Given the description of an element on the screen output the (x, y) to click on. 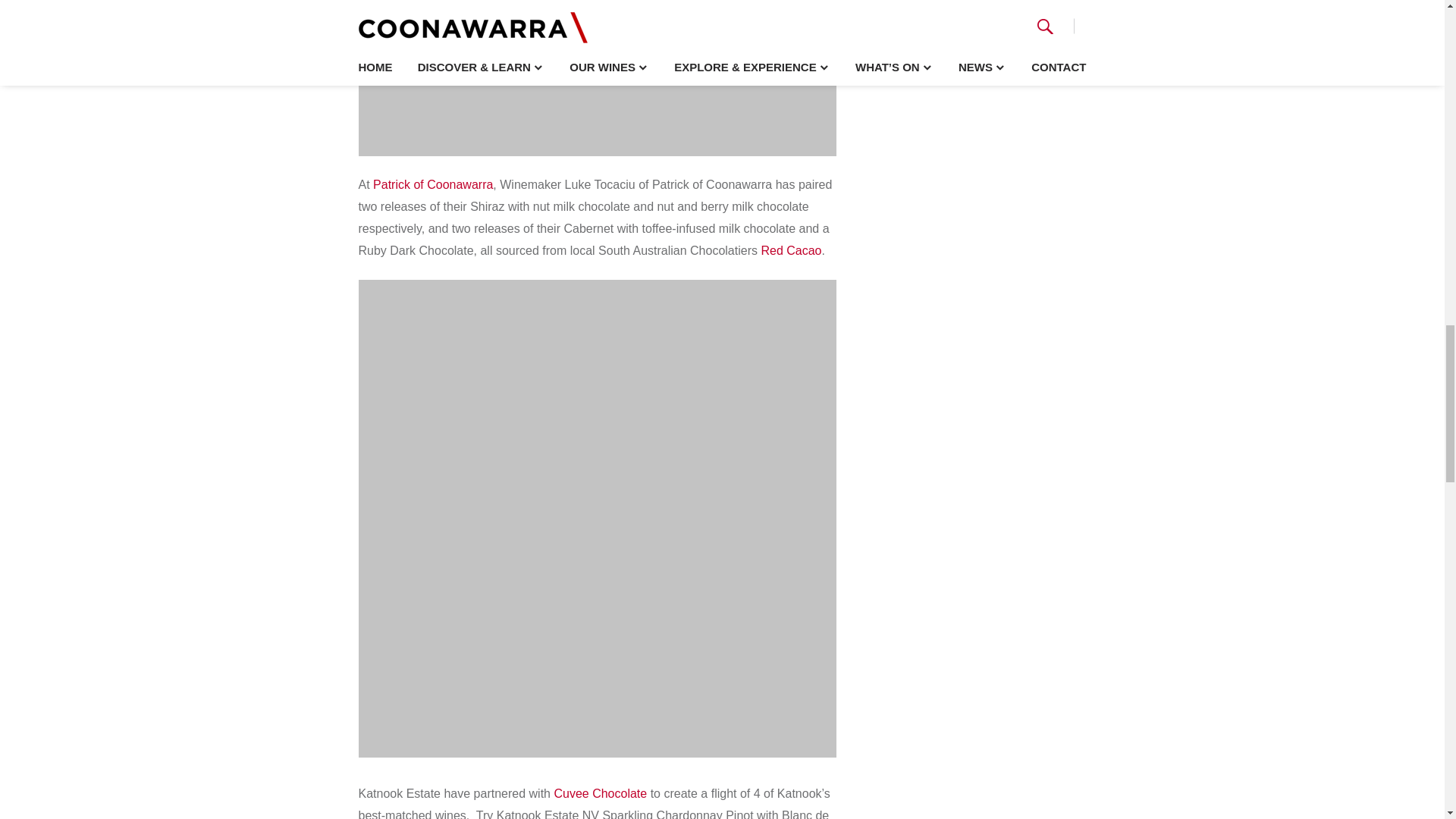
Patrick of Coonawarra (432, 184)
Red Cacao (790, 250)
Cuvee Chocolate (599, 793)
